Given the description of an element on the screen output the (x, y) to click on. 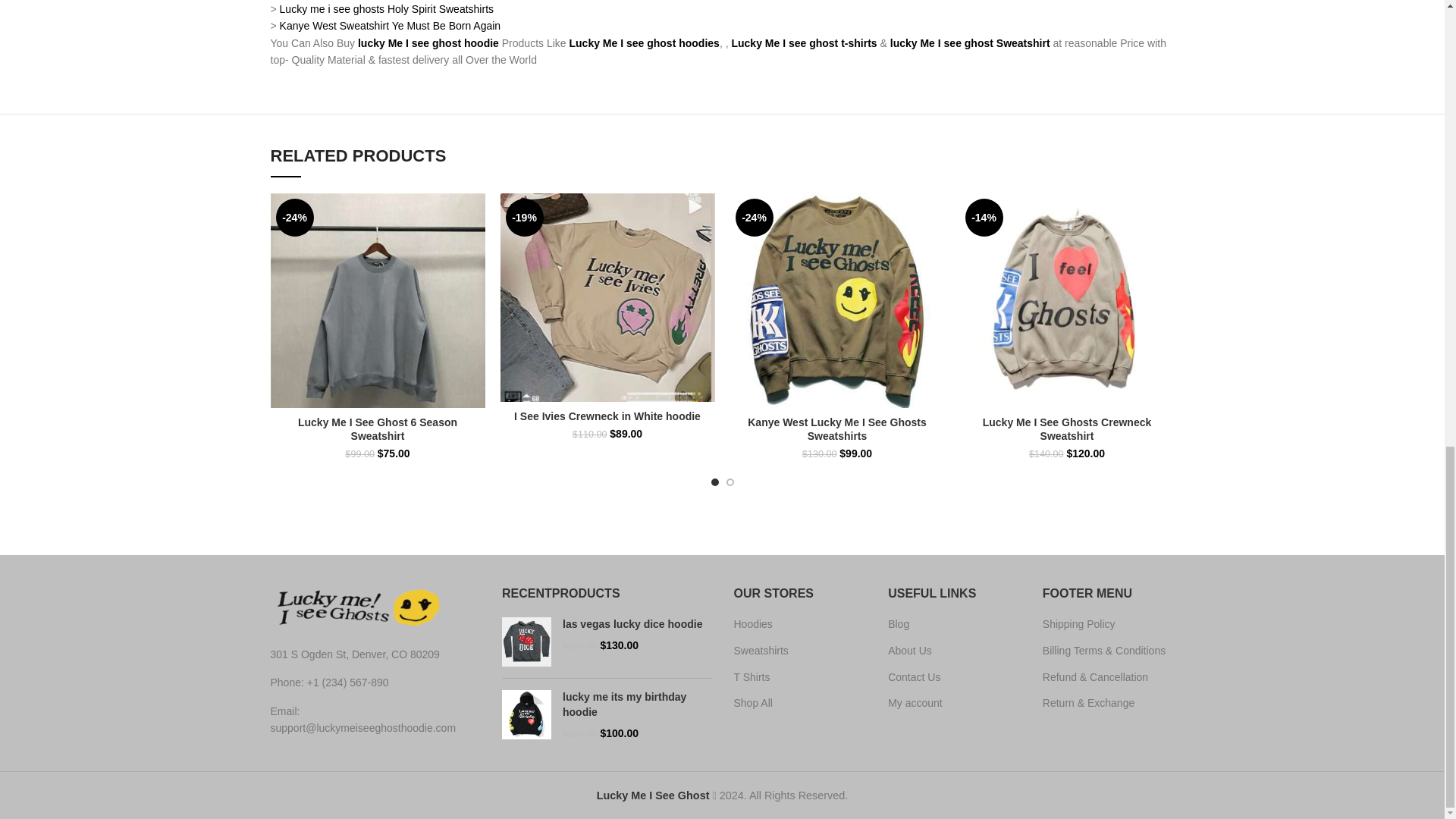
Lucky me i see ghosts Holy Spirit Sweatshirts (386, 9)
luvk-me-1-removebg-preview (356, 607)
las vegas lucky dice hoodie (526, 641)
las vegas lucky dice hoodie (636, 624)
lucky me its my birthday hoodie (636, 704)
lucky Me I see ghost hoodie (428, 42)
lucky me its my birthday hoodie (526, 715)
Kanye West Sweatshirt Ye Must Be Born Again (389, 25)
